Given the description of an element on the screen output the (x, y) to click on. 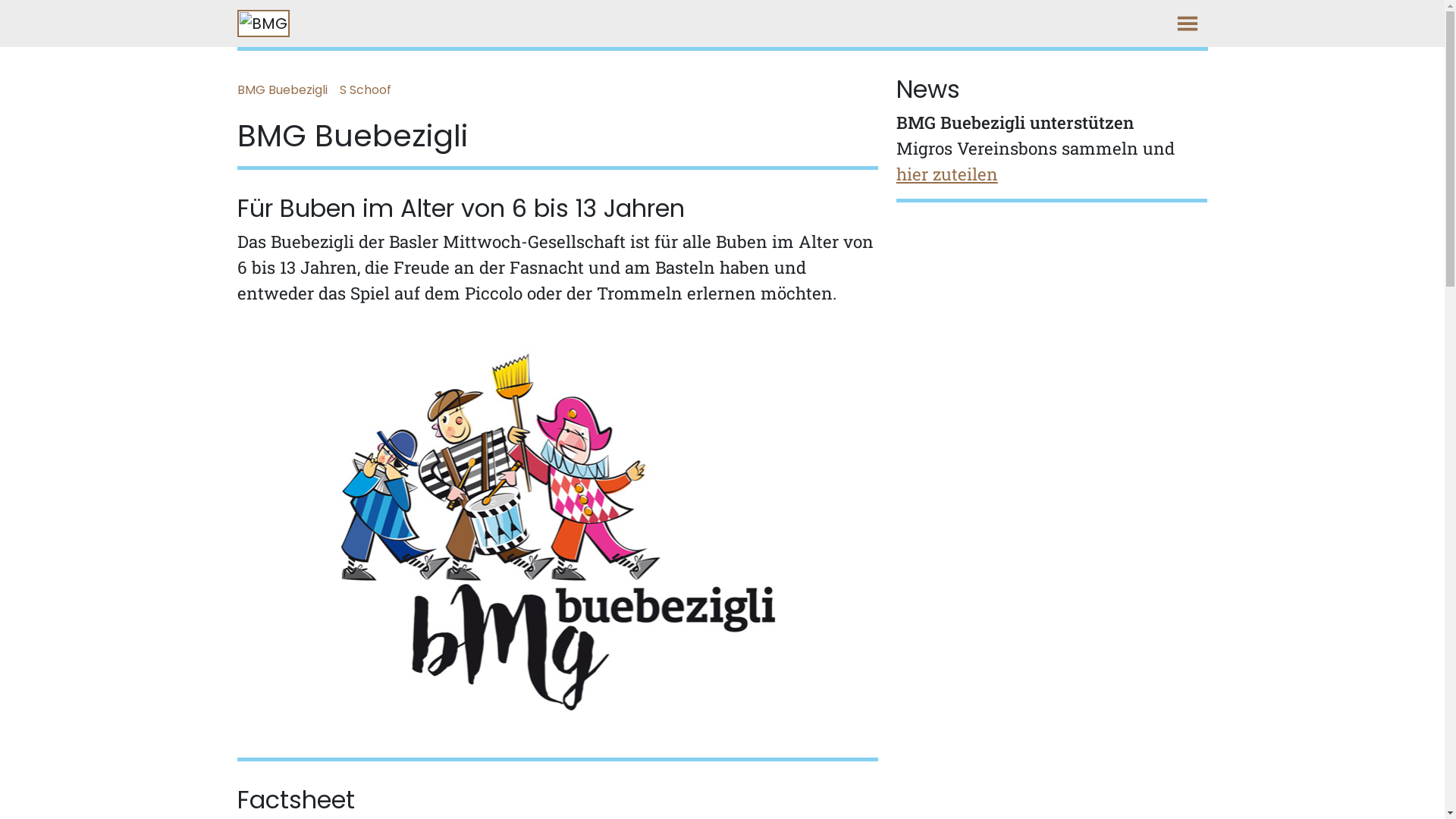
S Schoof Element type: text (371, 90)
hier zuteilen Element type: text (946, 174)
BMG Buebezigli Element type: text (287, 90)
